Given the description of an element on the screen output the (x, y) to click on. 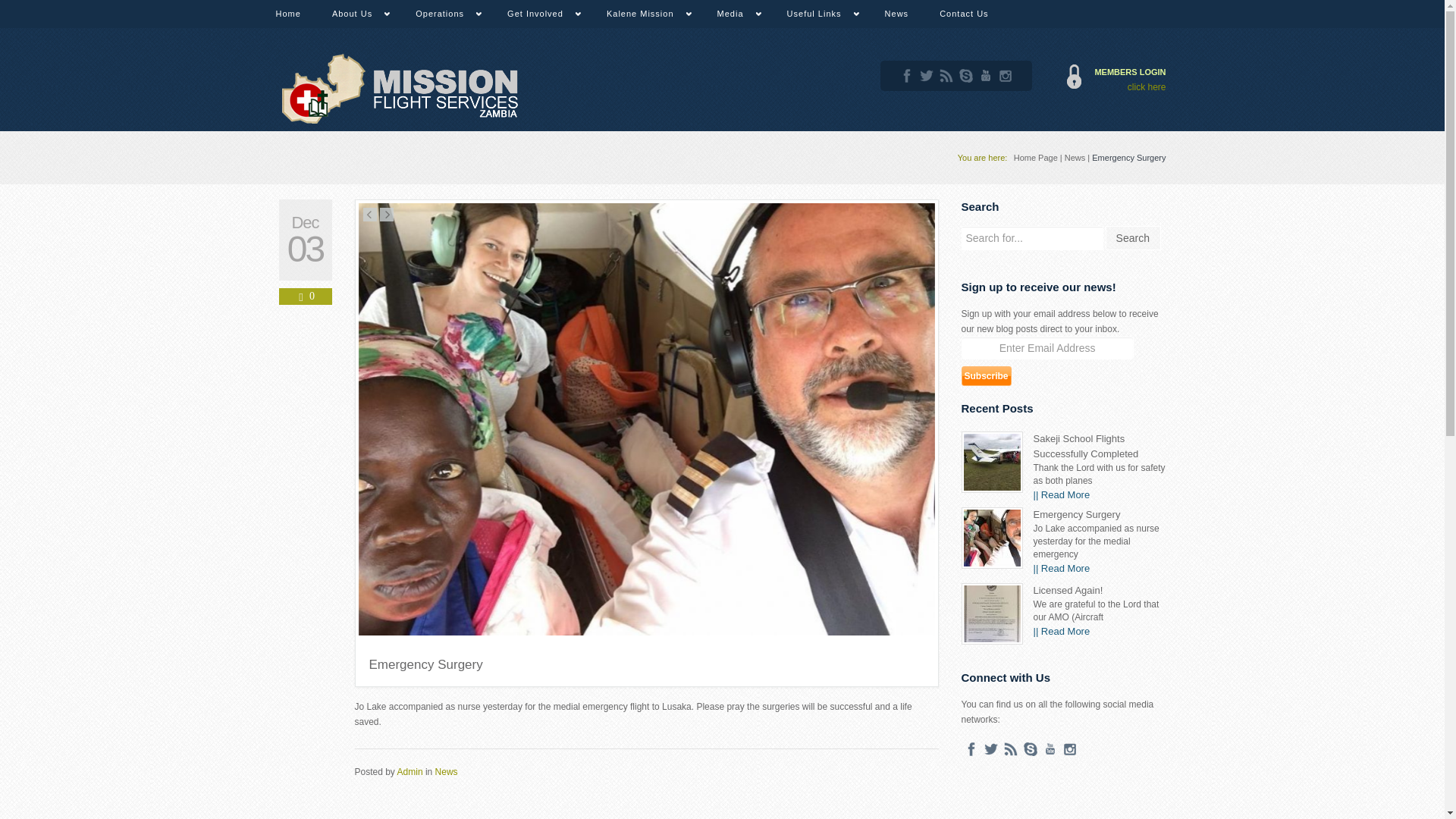
Sakeji School Flights Successfully Completed (1085, 446)
Search (1132, 238)
Subscribe (985, 375)
Emergency Surgery (1075, 514)
Home (287, 13)
Mission Flight Services (399, 90)
Posts by Admin (410, 771)
Licensed Again! (1067, 590)
